Given the description of an element on the screen output the (x, y) to click on. 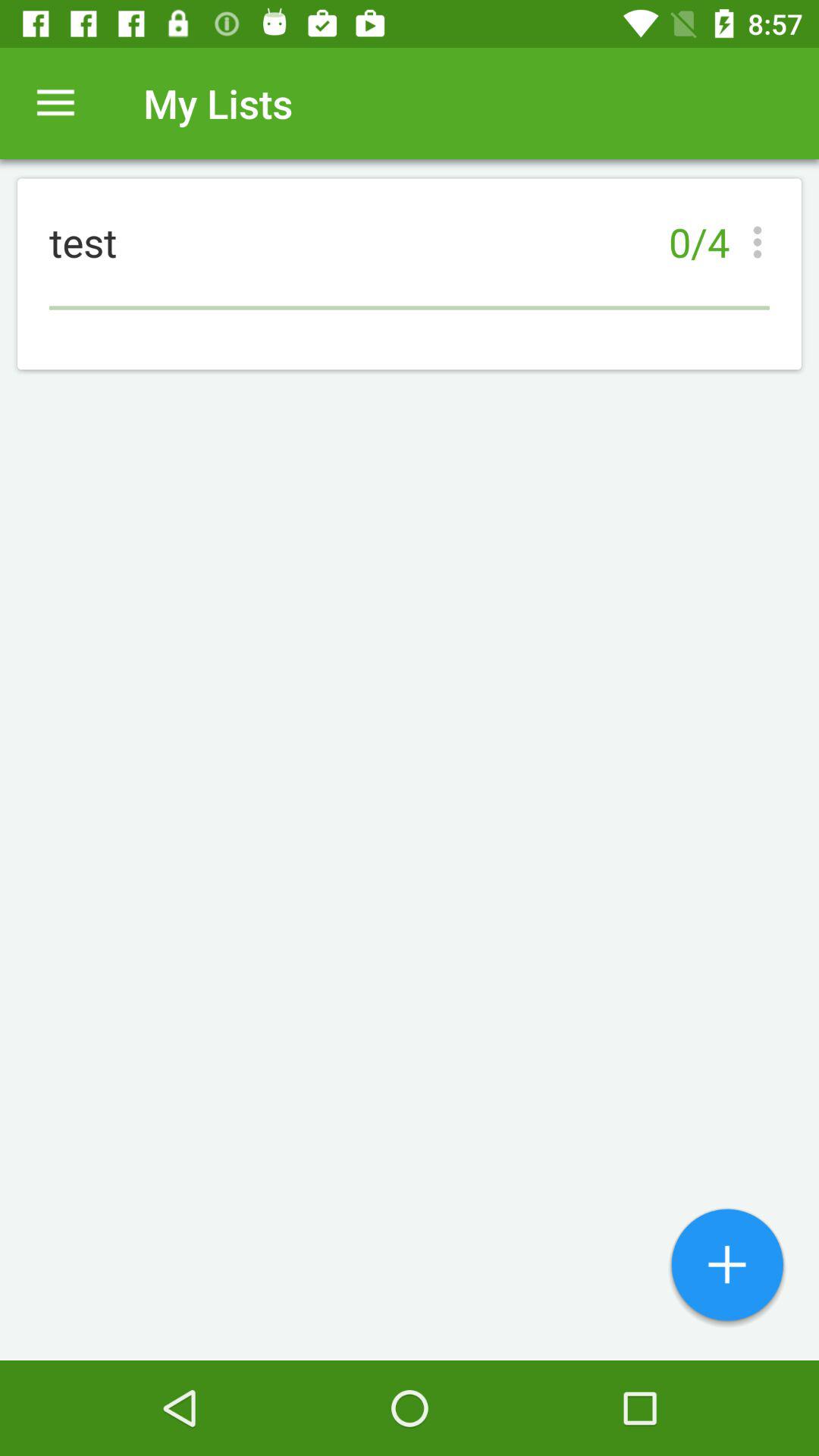
open item above test icon (55, 103)
